Given the description of an element on the screen output the (x, y) to click on. 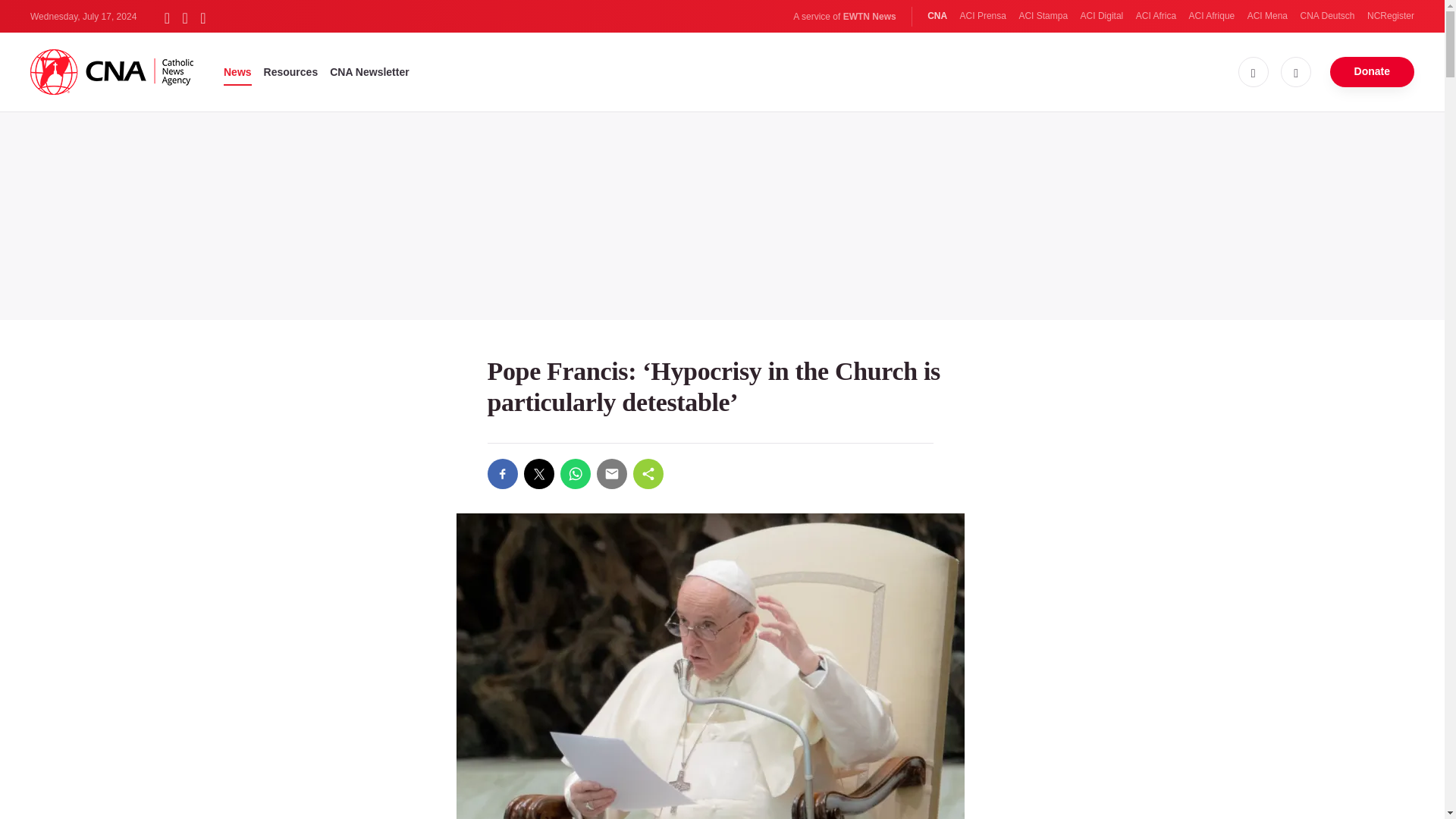
CNA (937, 16)
ACI Afrique (1211, 16)
EWTN News (869, 16)
ACI Mena (1267, 16)
ACI Prensa (982, 16)
ACI Stampa (1042, 16)
EWTN News (869, 16)
ACI Africa (1155, 16)
News (237, 71)
ACI Digital (1102, 16)
CNA Deutsch (1327, 16)
NCRegister (1390, 16)
Resources (290, 71)
